Given the description of an element on the screen output the (x, y) to click on. 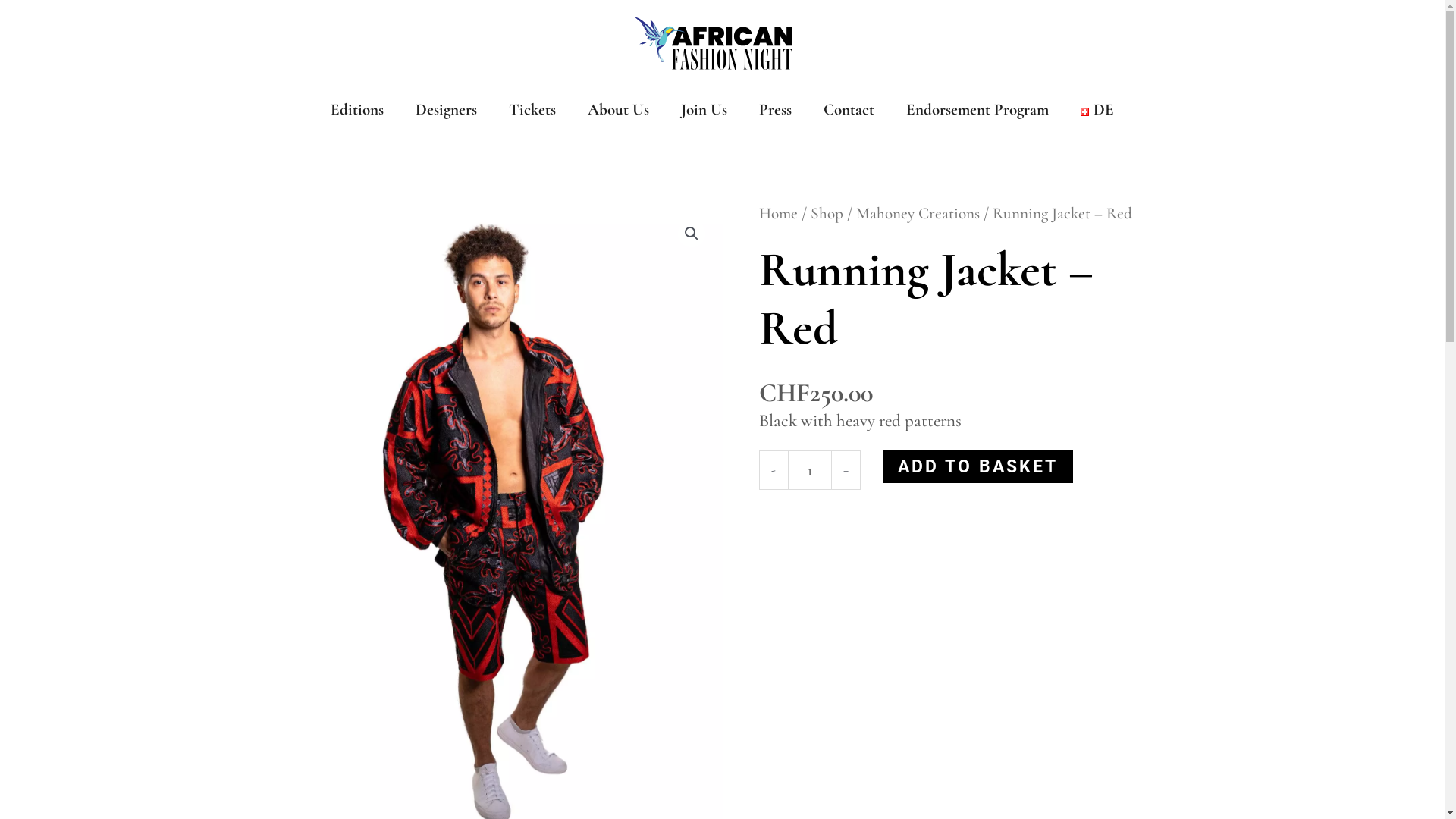
Contact Element type: text (848, 109)
ADD TO BASKET Element type: text (977, 466)
Tickets Element type: text (531, 109)
- Element type: text (772, 470)
Mahoney Creations Element type: text (917, 212)
Editions Element type: text (356, 109)
+ Element type: text (845, 470)
About Us Element type: text (618, 109)
Designers Element type: text (445, 109)
Join Us Element type: text (704, 109)
Press Element type: text (775, 109)
Endorsement Program Element type: text (977, 109)
DE Element type: text (1096, 109)
Shop Element type: text (825, 212)
Home Element type: text (777, 212)
